Given the description of an element on the screen output the (x, y) to click on. 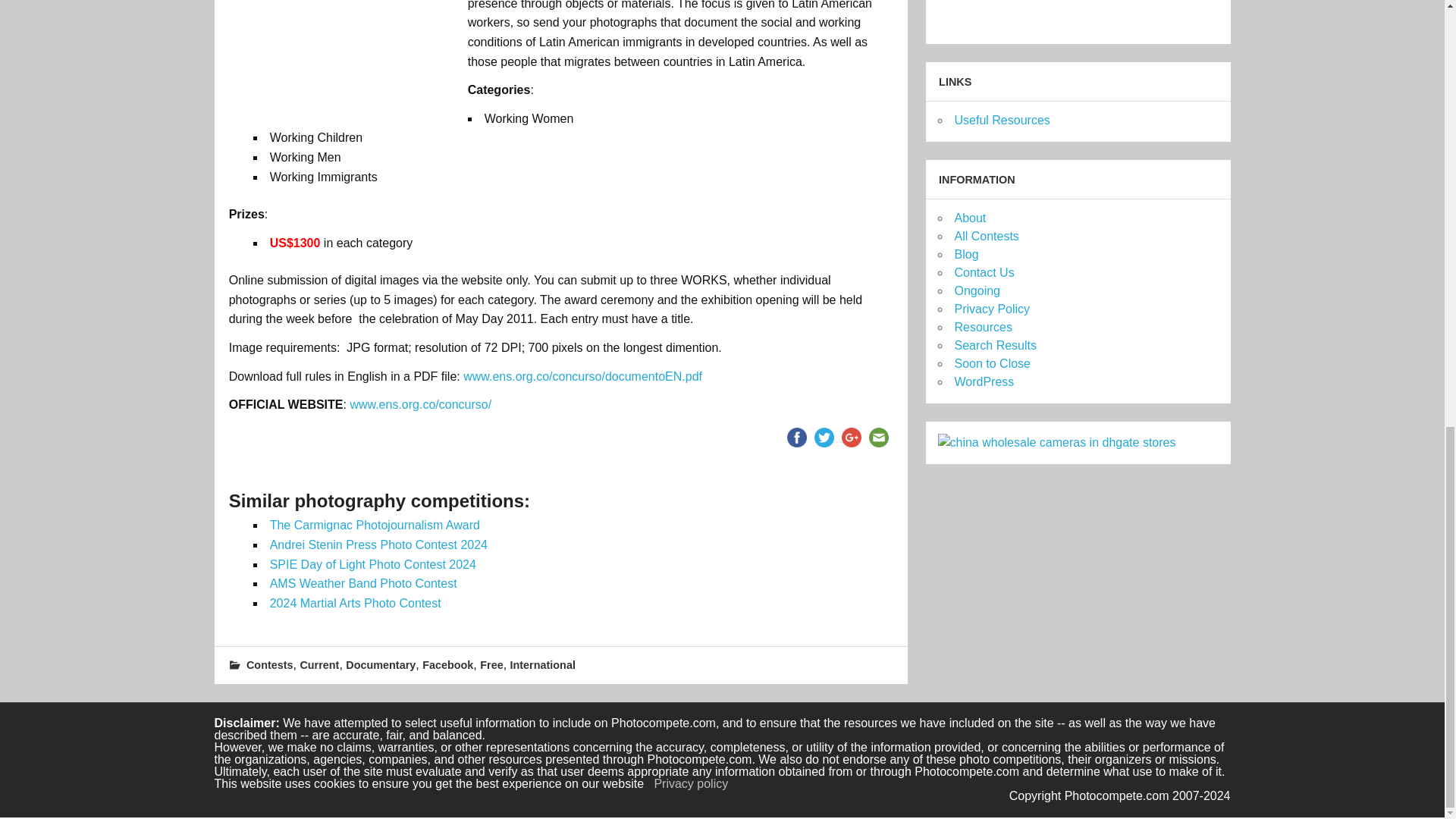
AMS Weather Band Photo Contest (363, 583)
Documentary (380, 664)
Facebook (796, 437)
SPIE Day of Light Photo Contest 2024 (372, 563)
International (543, 664)
Twitter (824, 437)
Email (878, 437)
Contests (270, 664)
2024 Martial Arts Photo Contest (355, 603)
Current (319, 664)
Andrei Stenin Press Photo Contest 2024 (378, 544)
Facebook (447, 664)
Free (491, 664)
The Carmignac Photojournalism Award (374, 524)
